Given the description of an element on the screen output the (x, y) to click on. 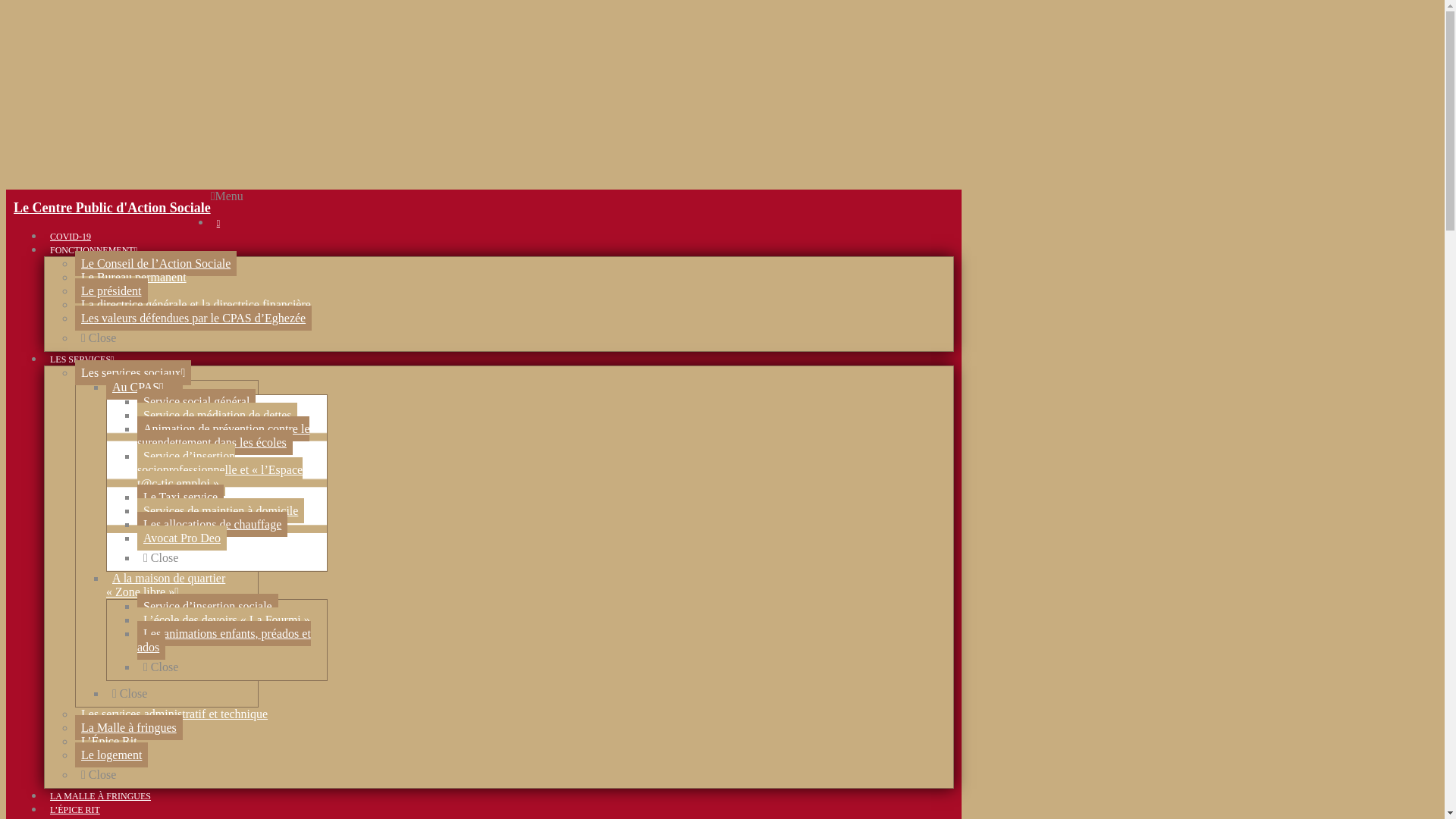
Le Centre Public d'Action Sociale Element type: text (111, 207)
Avocat Pro Deo Element type: text (181, 537)
Le Bureau permanent Element type: text (133, 276)
Les services administratif et technique Element type: text (174, 713)
Le Taxi service Element type: text (180, 496)
COVID-19 Element type: text (70, 236)
Menu Element type: text (226, 195)
Le logement Element type: text (111, 754)
Au CPAS Element type: text (144, 386)
Les allocations de chauffage Element type: text (212, 523)
